Given the description of an element on the screen output the (x, y) to click on. 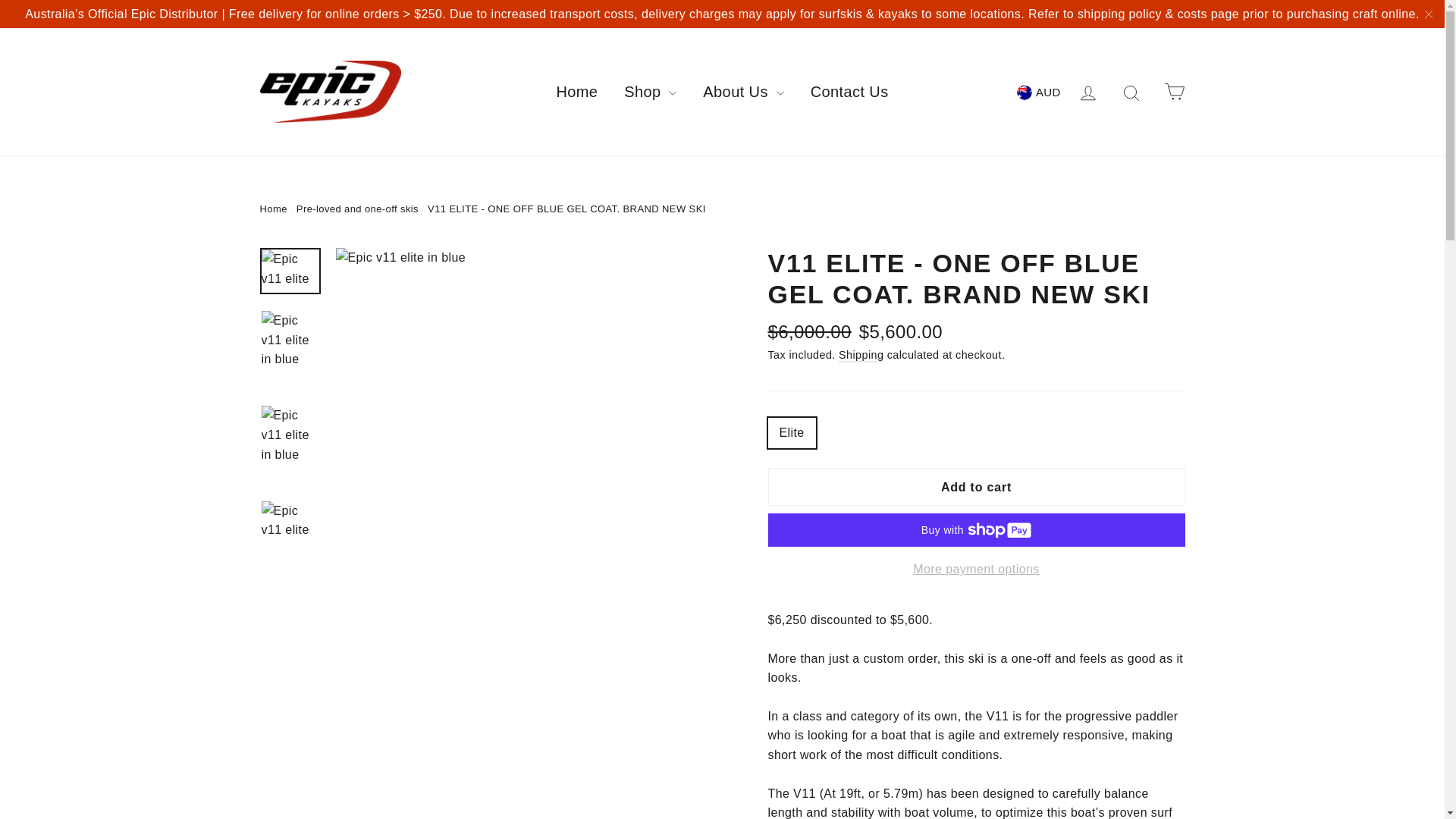
About Us (742, 90)
Search (1131, 90)
Back to the frontpage (272, 208)
Shop (649, 90)
Home (576, 90)
Log in (1088, 90)
Contact Us (849, 90)
AUD (1037, 90)
